Given the description of an element on the screen output the (x, y) to click on. 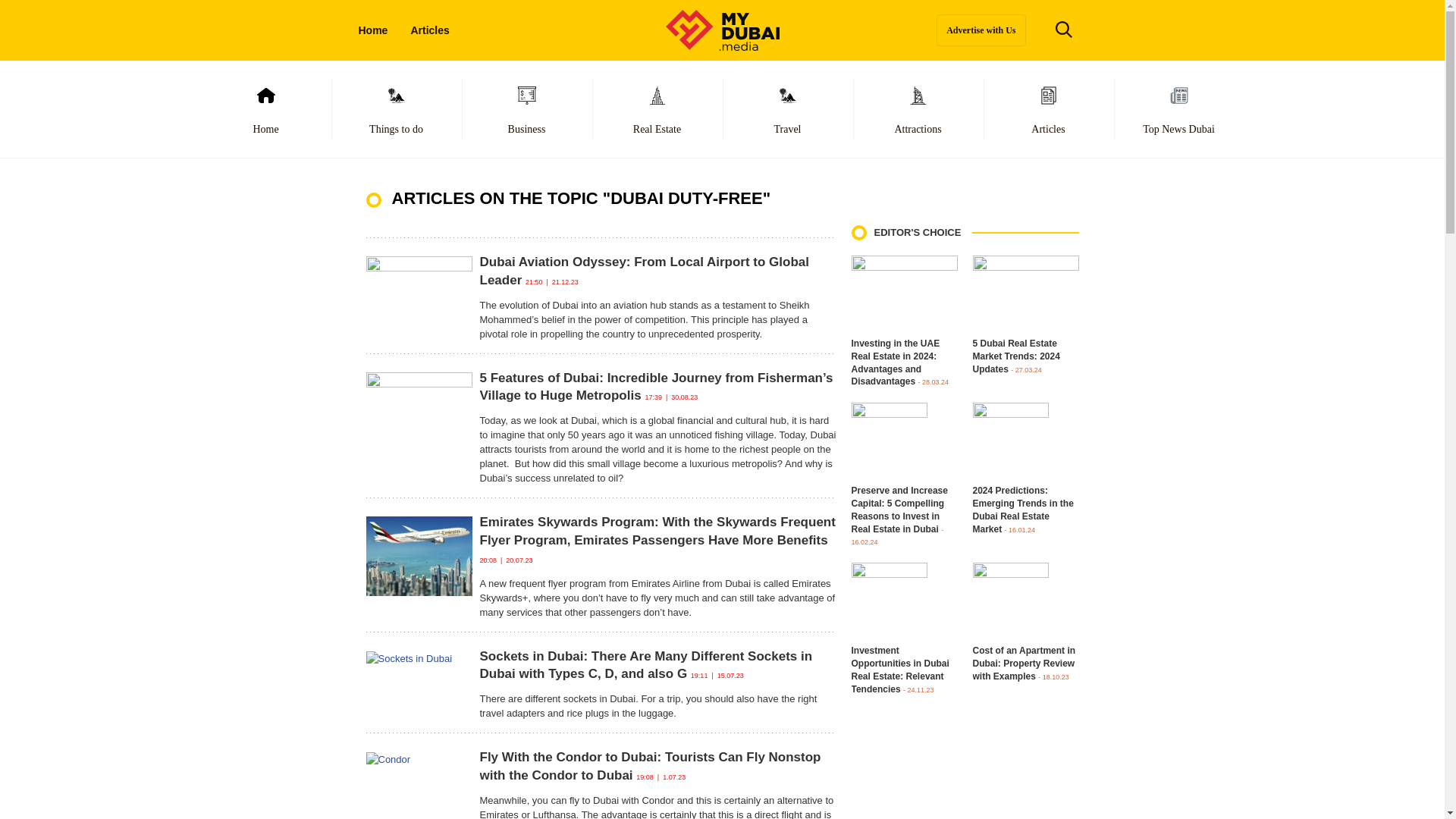
Articles (1047, 108)
Business (526, 108)
Dubai Aviation Odyssey: From Local Airport to Global Leader (644, 271)
Home (265, 108)
Articles (429, 30)
Attractions (916, 108)
Travel (786, 108)
Real Estate (656, 108)
Advertise with Us (980, 29)
Top News Dubai (1178, 108)
Things to do (395, 108)
